Given the description of an element on the screen output the (x, y) to click on. 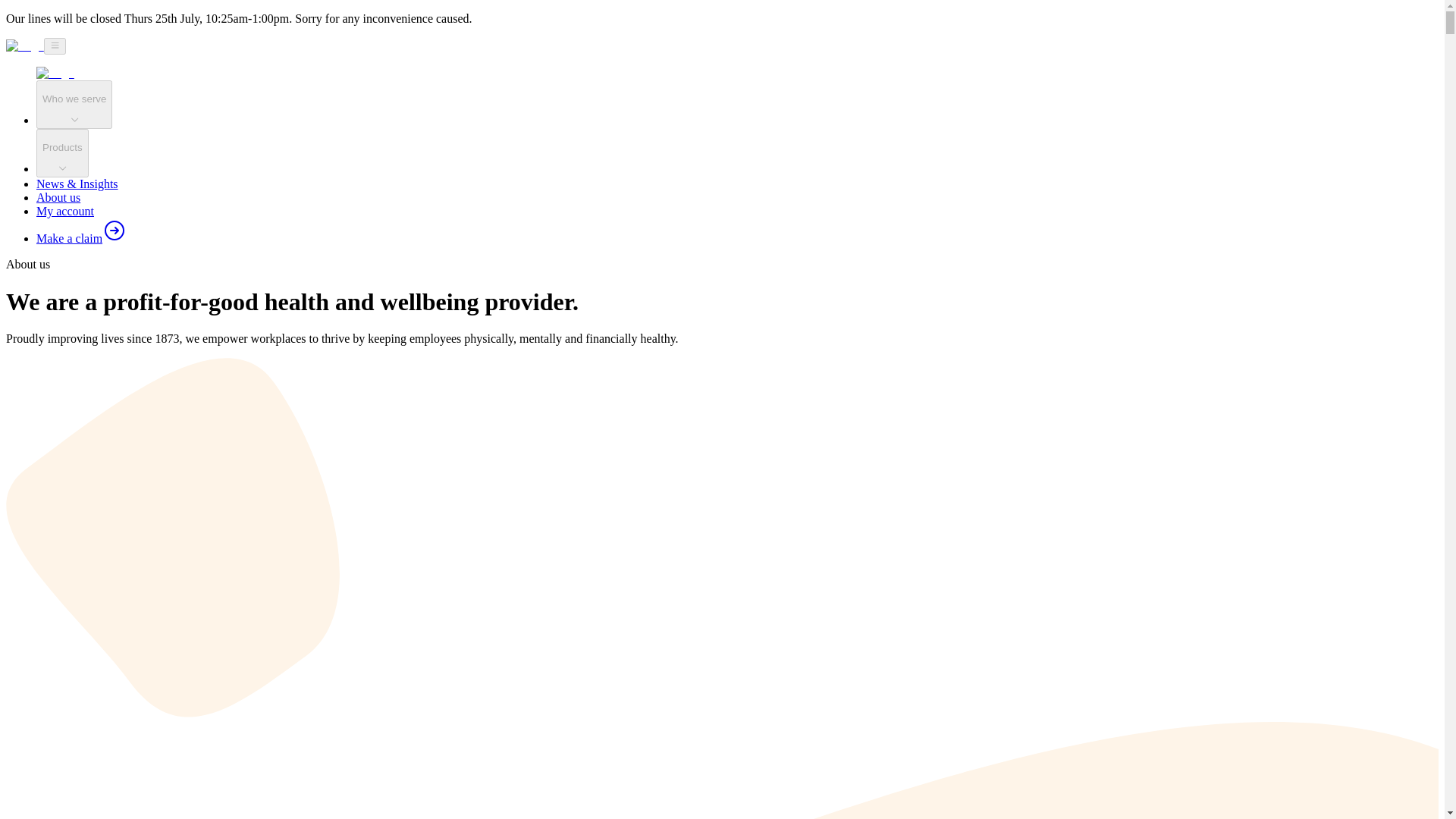
My account (65, 210)
About us (58, 196)
Products (62, 152)
Make a claim (81, 237)
Who we serve (74, 104)
